Given the description of an element on the screen output the (x, y) to click on. 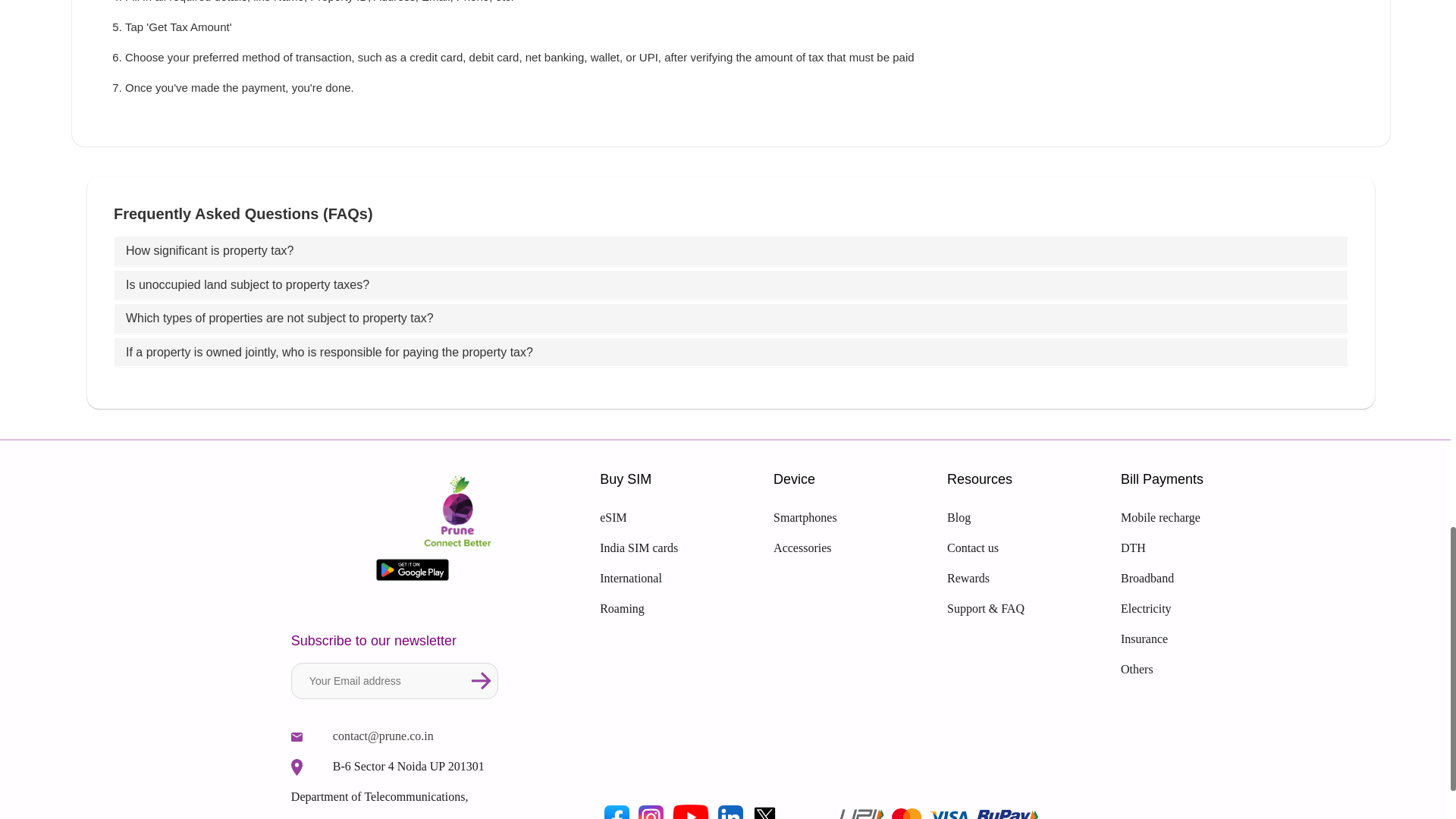
Prune (457, 512)
Prune (481, 680)
Prune (690, 809)
Prune (616, 809)
Prune (764, 809)
Prune (730, 809)
Prune (296, 737)
Prune (650, 809)
Prune (412, 569)
Prune (296, 766)
